Given the description of an element on the screen output the (x, y) to click on. 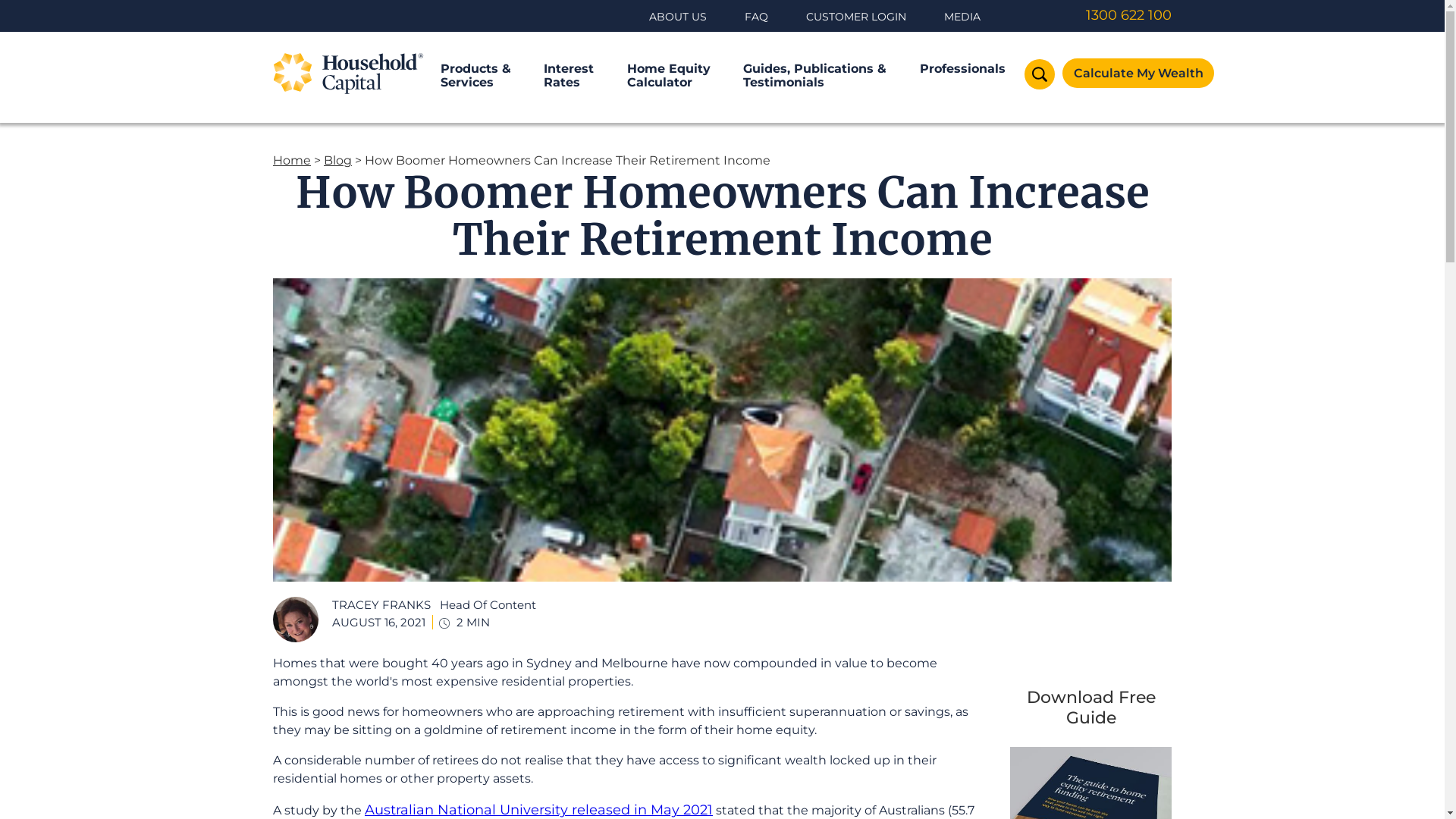
CUSTOMER LOGIN Element type: text (856, 16)
Products &
Services Element type: text (475, 75)
MEDIA Element type: text (962, 16)
Interest
Rates Element type: text (568, 75)
ABOUT US Element type: text (677, 16)
Home Element type: text (291, 160)
Guides, Publications &
Testimonials Element type: text (814, 75)
Blog Element type: text (337, 160)
Home Equity
Calculator Element type: text (668, 75)
FAQ Element type: text (756, 16)
Calculate My Wealth Element type: text (1138, 72)
1300 622 100 Element type: text (1089, 15)
Professionals Element type: text (962, 68)
Australian National University released in May 2021 Element type: text (538, 809)
